Given the description of an element on the screen output the (x, y) to click on. 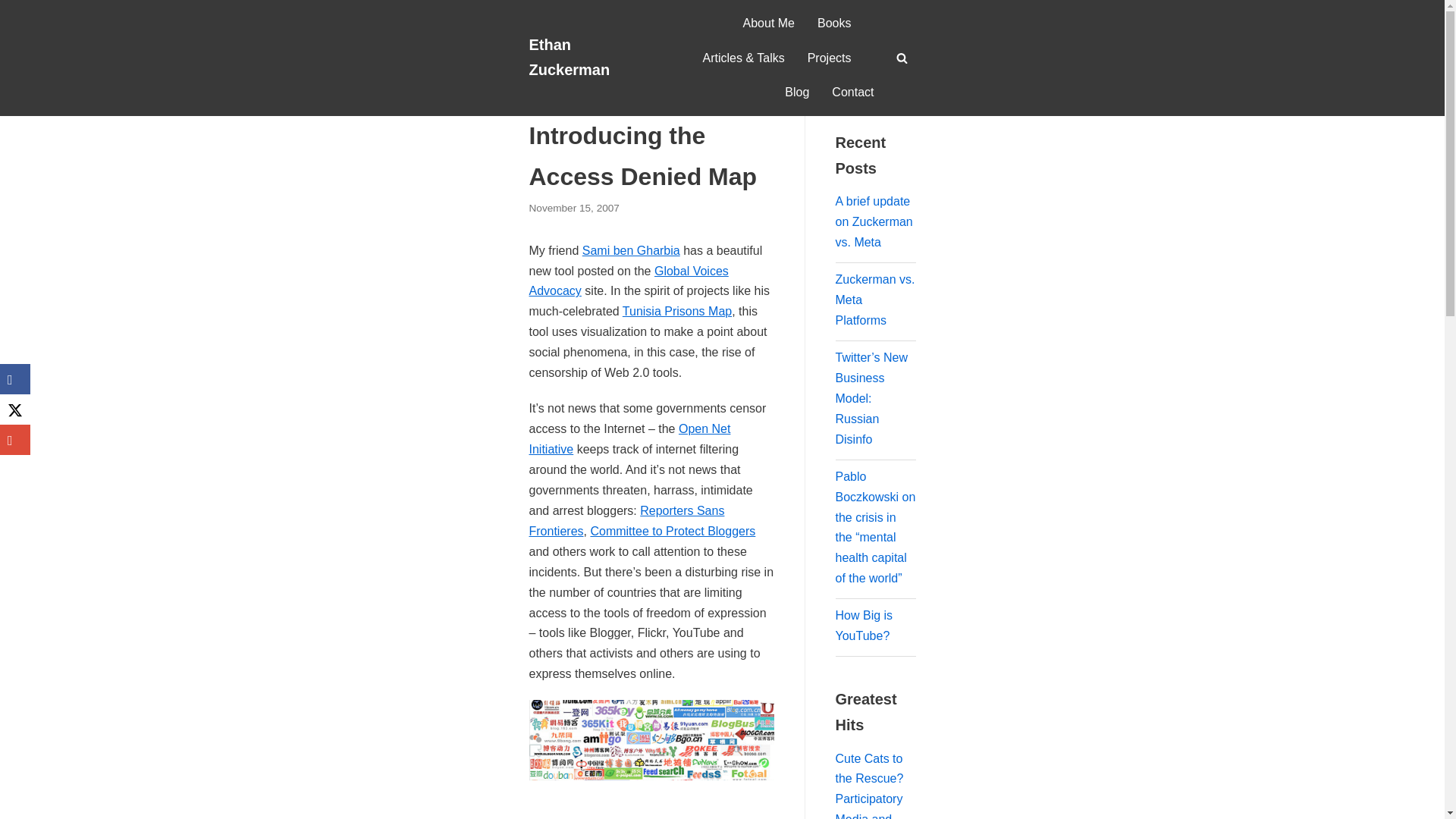
Zuckerman vs. Meta Platforms (875, 299)
Reporters Sans Frontieres (627, 520)
About Me (768, 23)
Ethan Zuckerman (586, 57)
Search (897, 87)
Books (833, 23)
How Big is YouTube? (864, 625)
Home (542, 84)
Blog (796, 92)
Search (897, 409)
Open Net Initiative (629, 438)
Skip to content (15, 31)
Committee to Protect Bloggers (672, 530)
Search (897, 87)
Blogs and bloggers (641, 84)
